Given the description of an element on the screen output the (x, y) to click on. 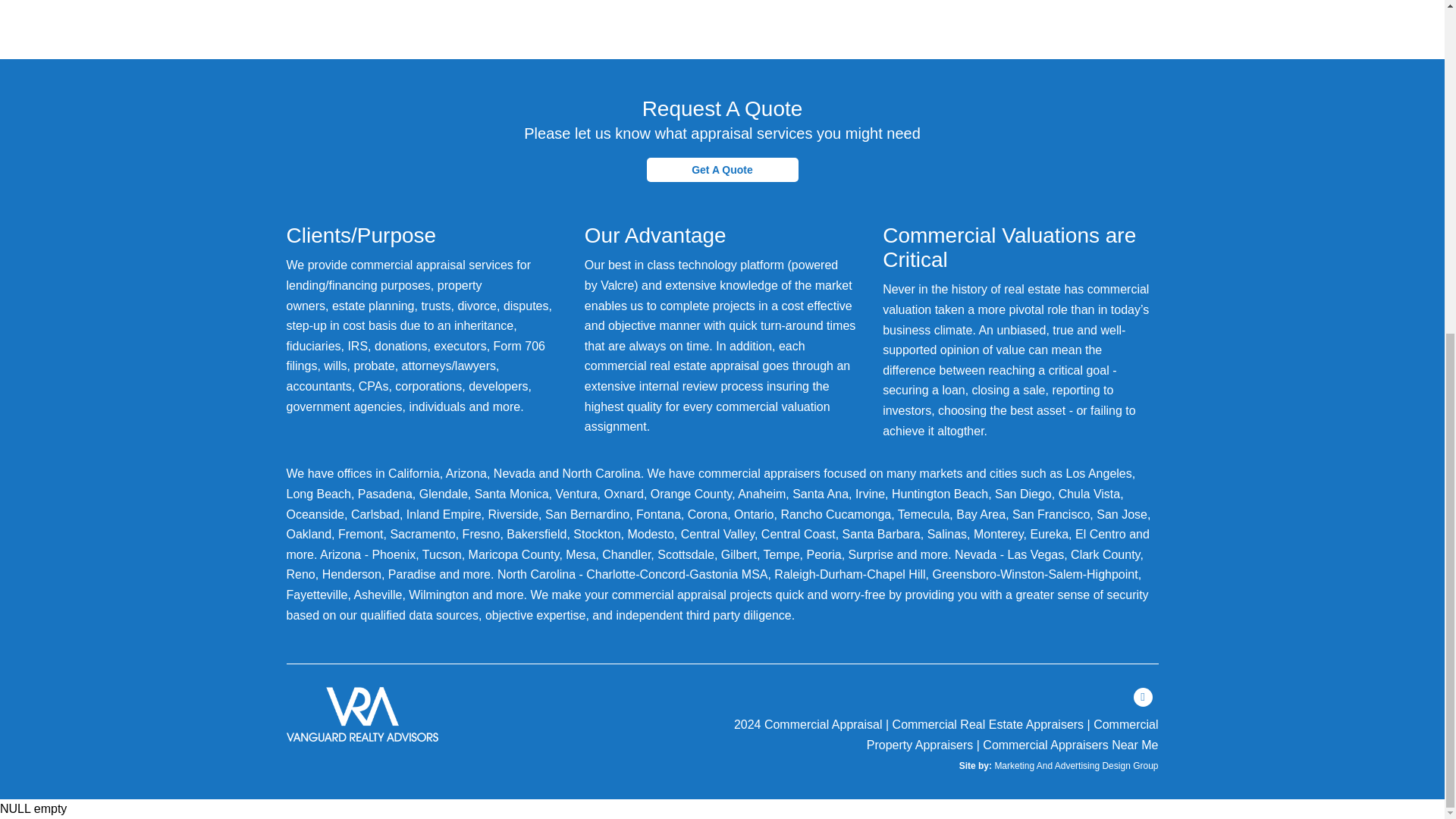
divorce (476, 305)
IRS (357, 345)
LinkedIn (1141, 696)
Marketing And Advertising Design Group (1075, 765)
estate planning (372, 305)
Valcre (616, 285)
Get A Quote (721, 169)
trusts (434, 305)
